Given the description of an element on the screen output the (x, y) to click on. 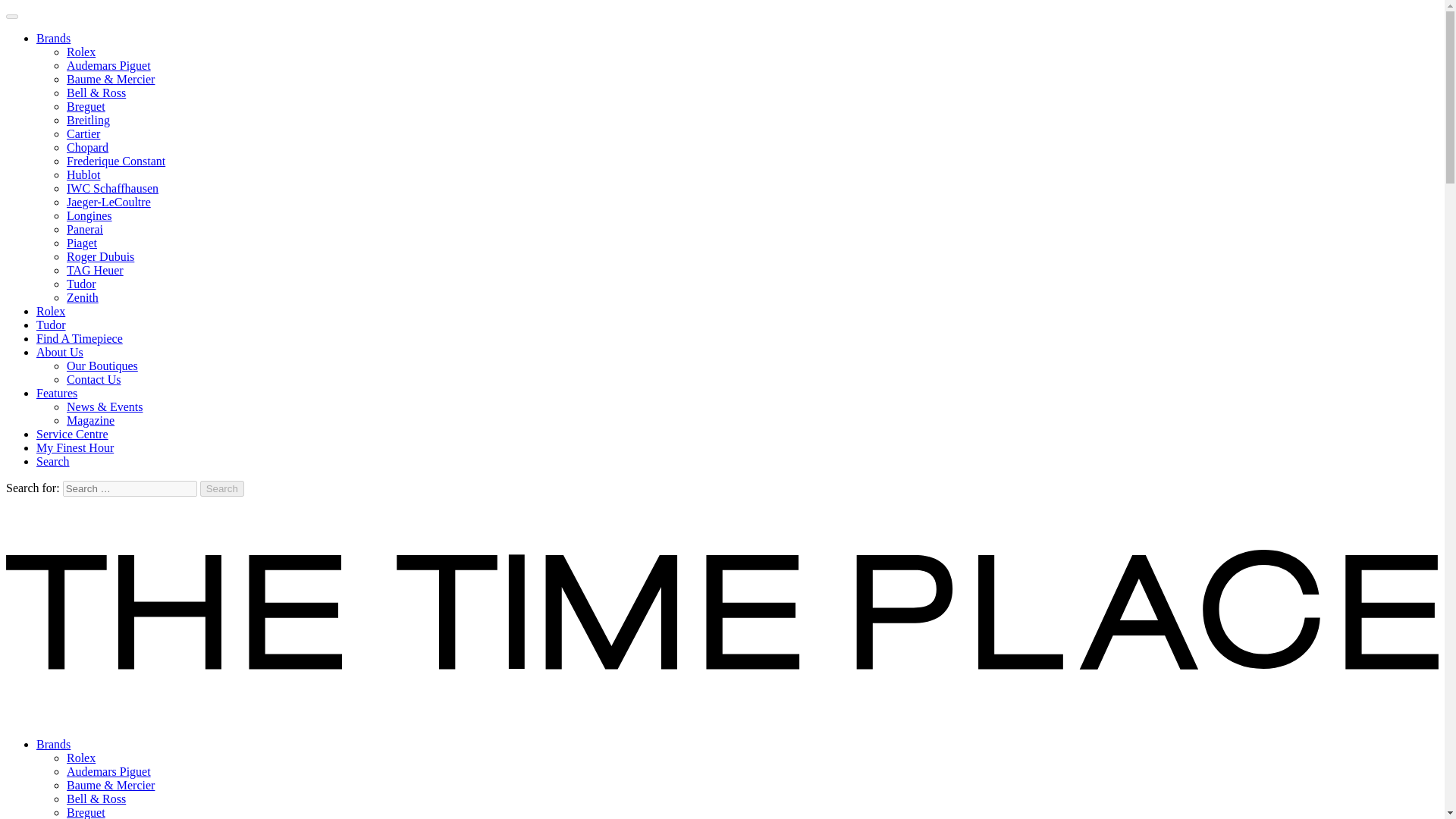
Audemars Piguet (108, 65)
Hublot (83, 174)
Panerai (84, 228)
My Finest Hour (74, 447)
TAG Heuer (94, 269)
Search (52, 461)
Tudor (50, 324)
Chopard (86, 146)
Piaget (81, 242)
Breguet (85, 106)
Longines (89, 215)
Cartier (83, 133)
Brands (52, 38)
Service Centre (71, 433)
Rolex (81, 757)
